Given the description of an element on the screen output the (x, y) to click on. 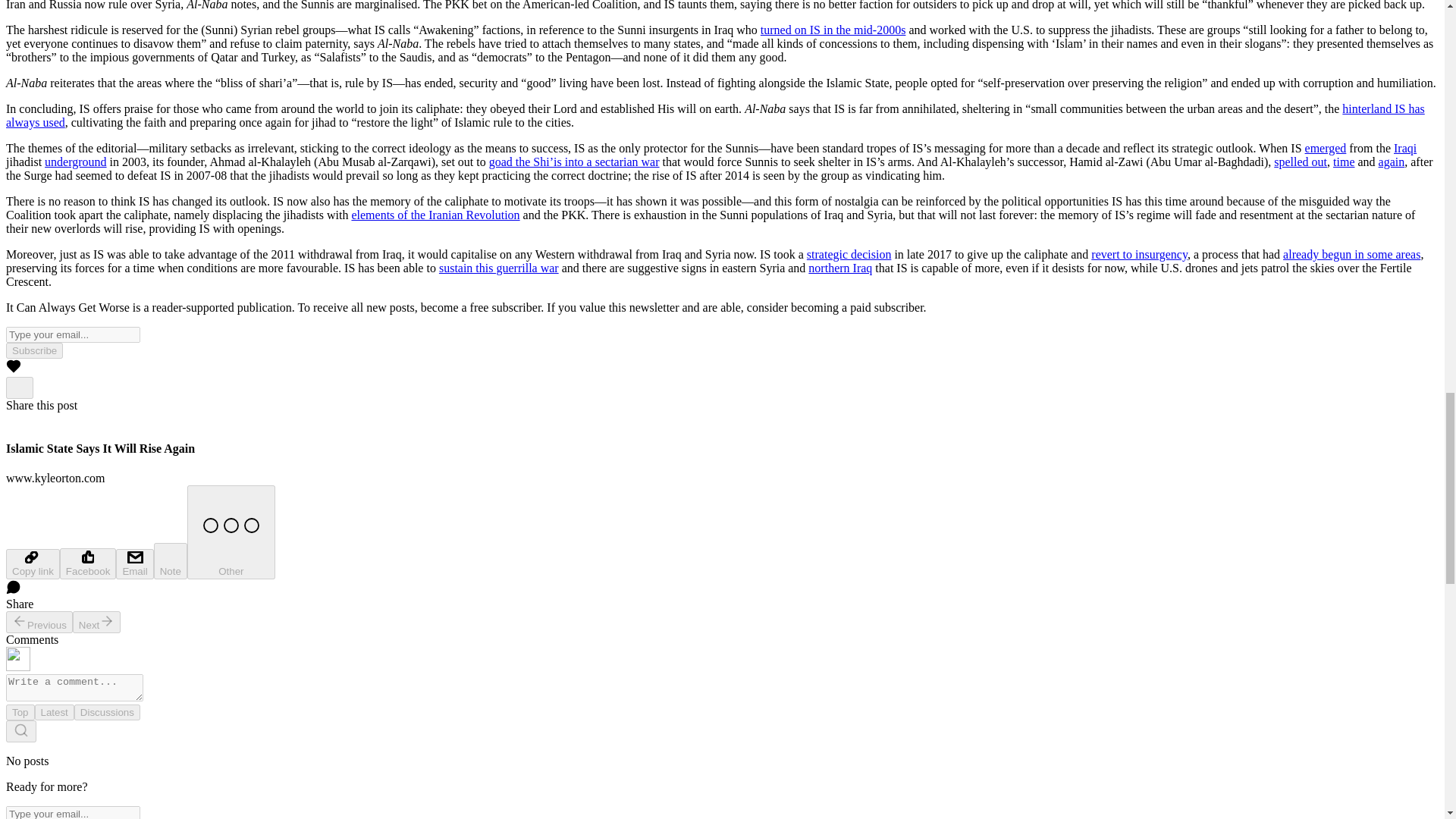
elements of the Iranian Revolution (434, 214)
hinterland IS has always used (715, 115)
spelled out (1300, 161)
underground (75, 161)
time (1343, 161)
strategic decision (848, 254)
again (1391, 161)
turned on IS in the mid-2000s (832, 29)
emerged (1325, 147)
Iraqi (1404, 147)
